Given the description of an element on the screen output the (x, y) to click on. 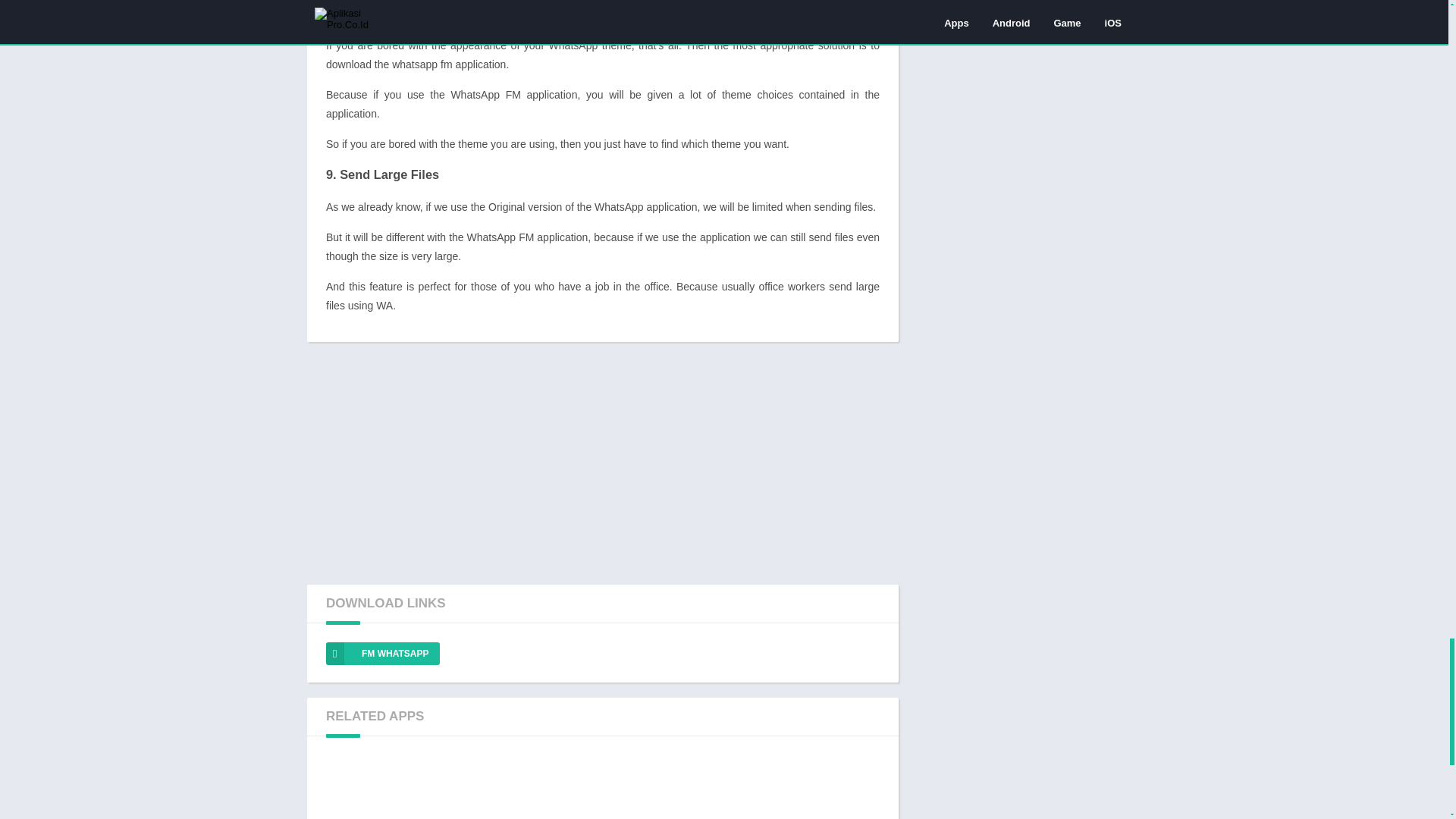
VSCO Mod APK (488, 787)
Instagram Download APK (375, 787)
Instagram Download APK (375, 787)
X8 Sandbox APK (829, 787)
VN Mod Apk (715, 787)
FM WHATSAPP (382, 653)
